Given the description of an element on the screen output the (x, y) to click on. 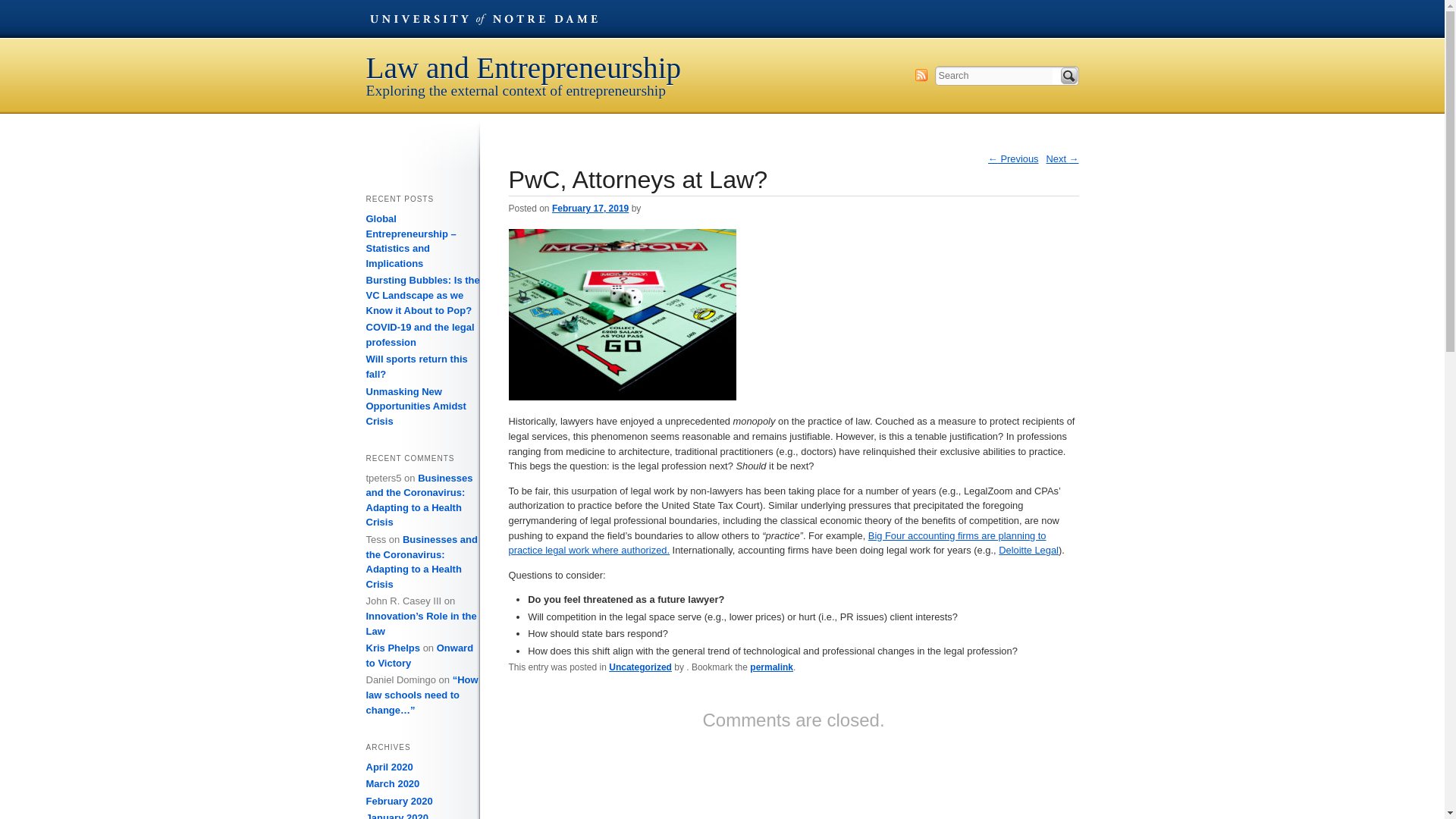
January 2020 (396, 815)
Permalink to PwC, Attorneys at Law? (771, 666)
Law and Entrepreneurship (614, 67)
9:02 pm (589, 208)
Onward to Victory (419, 655)
Kris Phelps (392, 647)
March 2020 (392, 783)
Uncategorized (639, 666)
February 2020 (398, 800)
Law and Entrepreneurship (614, 67)
Businesses and the Coronavirus: Adapting to a Health Crisis (418, 500)
Unmasking New Opportunities Amidst Crisis (415, 405)
February 17, 2019 (589, 208)
